Given the description of an element on the screen output the (x, y) to click on. 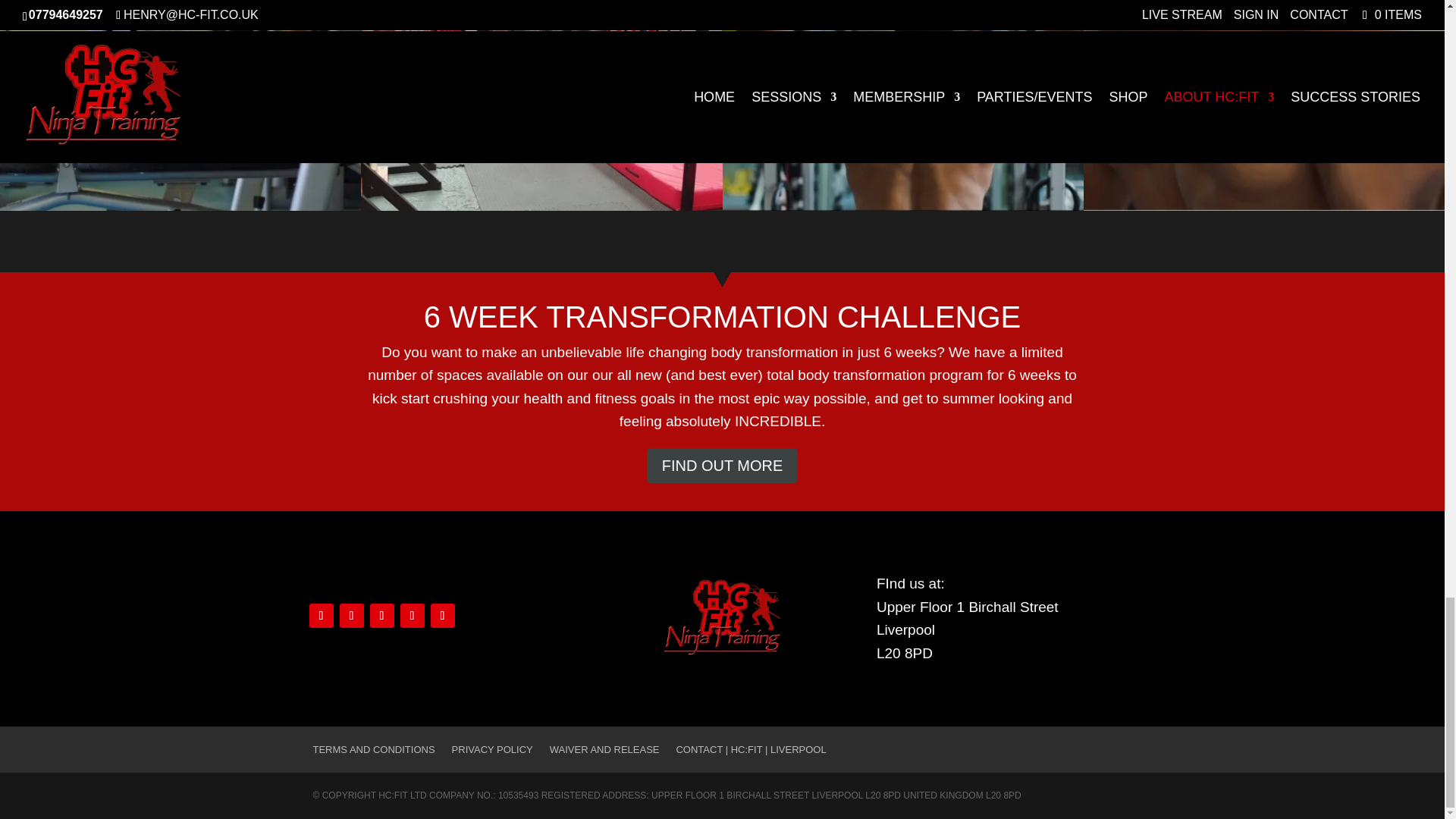
Follow on Facebook (320, 615)
Follow on X (351, 615)
Follow on Instagram (381, 615)
gym-henry-reversecrunch (180, 205)
hc-fit-gym-landscape (541, 205)
Henry-olypiclifting (902, 205)
Follow on Youtube (442, 615)
Follow on TikTok (412, 615)
